Given the description of an element on the screen output the (x, y) to click on. 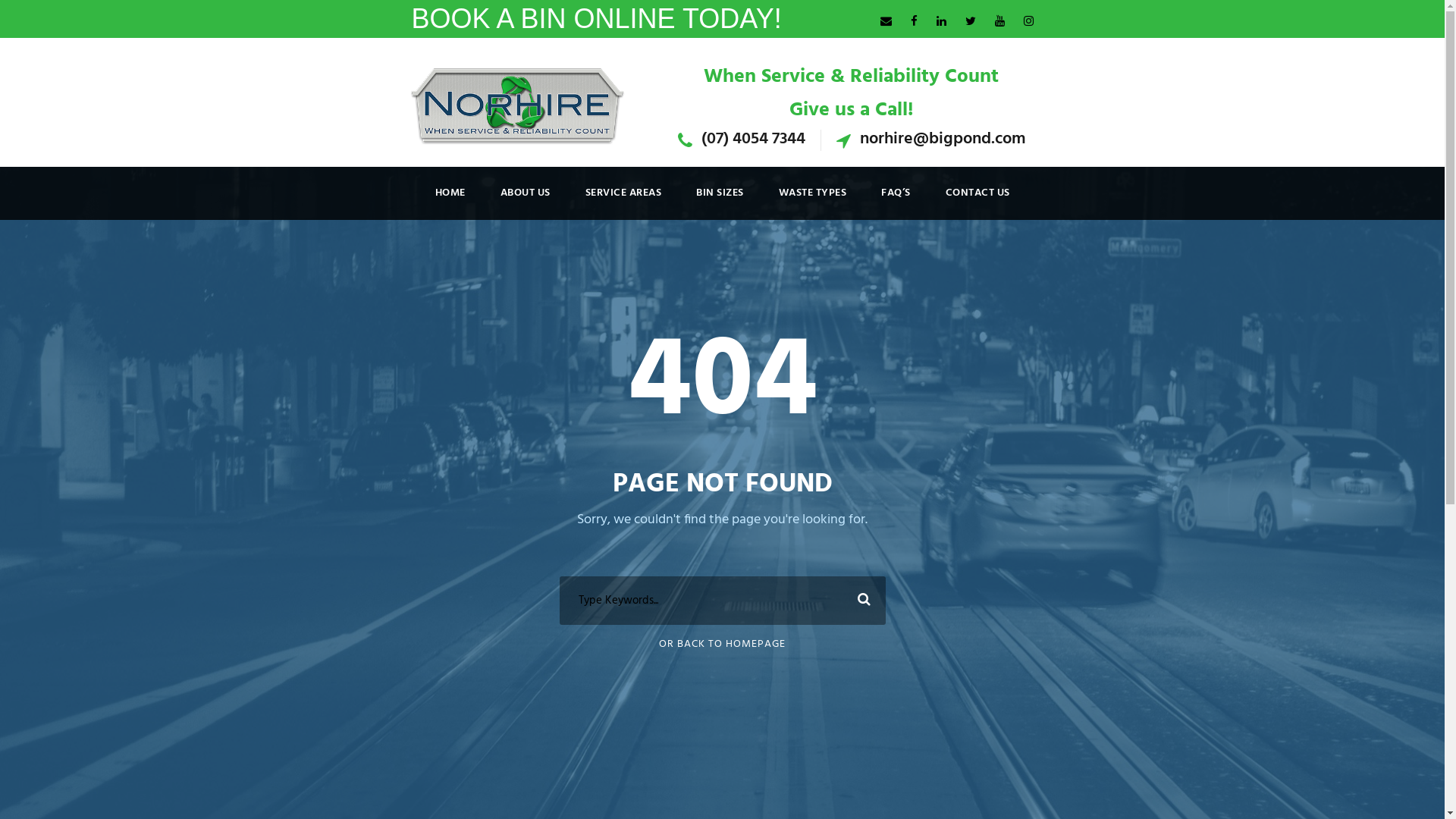
instagram Element type: hover (1028, 21)
norhire@bigpond.com Element type: text (942, 138)
OR BACK TO HOMEPAGE Element type: text (721, 643)
Search Element type: text (860, 600)
Norhire-Logo-web Element type: hover (516, 104)
email Element type: hover (885, 21)
SERVICE AREAS Element type: text (623, 201)
youtube Element type: hover (999, 21)
HOME Element type: text (450, 201)
twitter Element type: hover (969, 21)
WASTE TYPES Element type: text (812, 201)
(07) 4054 7344 Element type: text (752, 138)
CONTACT US Element type: text (976, 201)
facebook Element type: hover (913, 21)
ABOUT US Element type: text (525, 201)
linkedin Element type: hover (940, 21)
BIN SIZES Element type: text (719, 201)
